Given the description of an element on the screen output the (x, y) to click on. 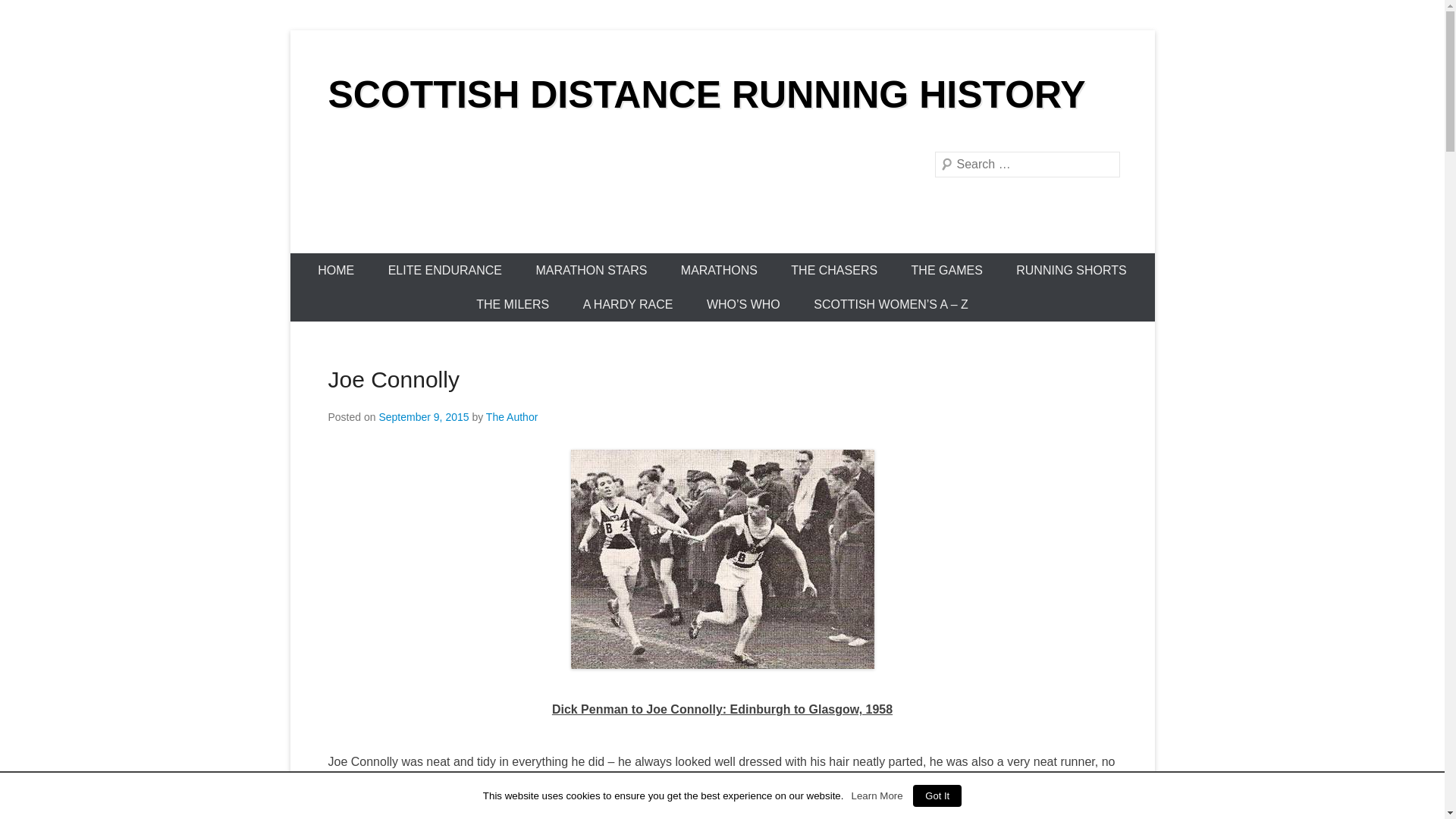
THE MILERS (512, 304)
MARATHON STARS (590, 270)
MARATHONS (719, 270)
RUNNING SHORTS (1071, 270)
THE CHASERS (834, 270)
HOME (335, 270)
1:00 pm (423, 417)
A HARDY RACE (627, 304)
The Author (512, 417)
